Given the description of an element on the screen output the (x, y) to click on. 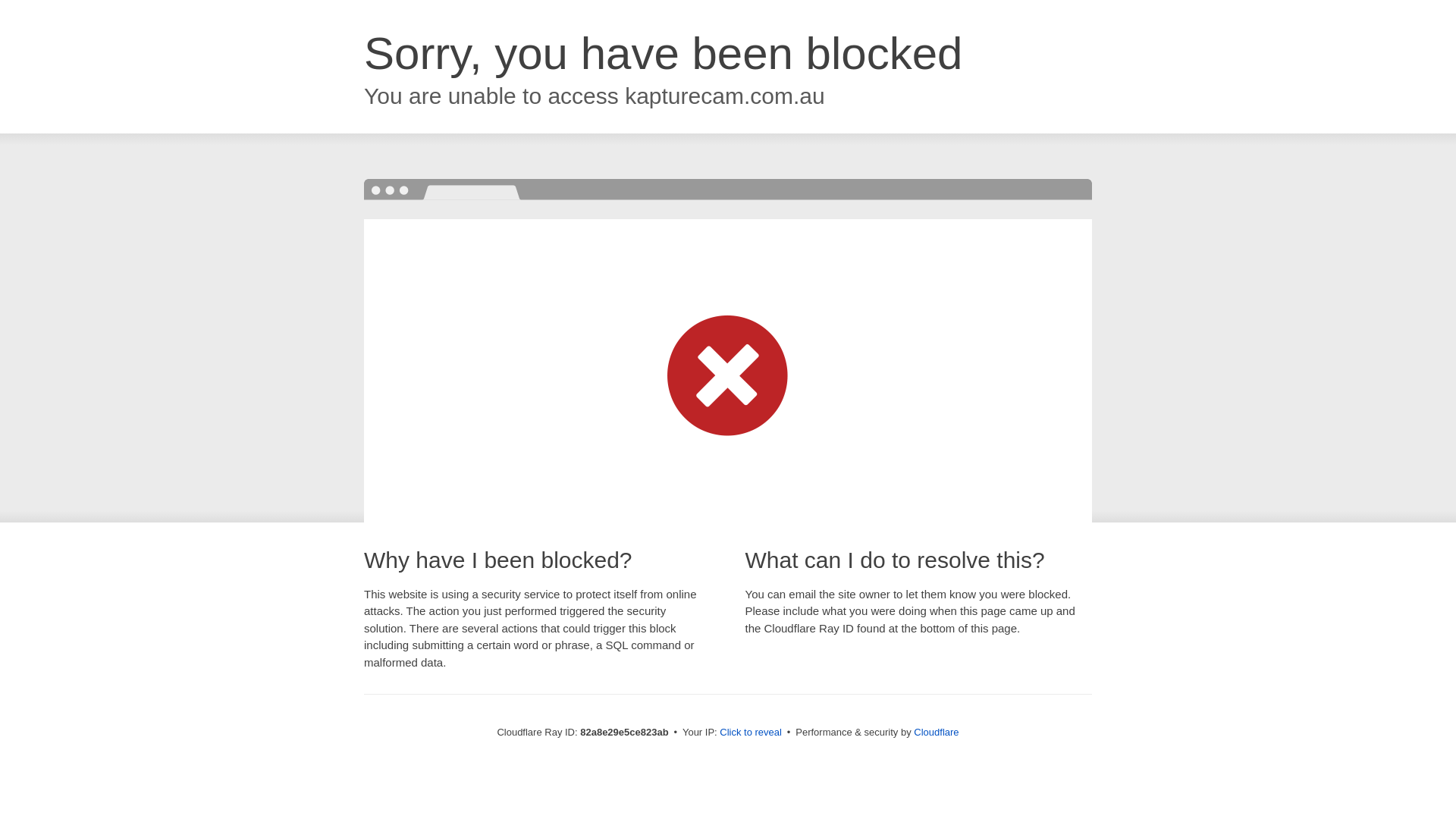
Cloudflare Element type: text (935, 731)
Click to reveal Element type: text (750, 732)
